Given the description of an element on the screen output the (x, y) to click on. 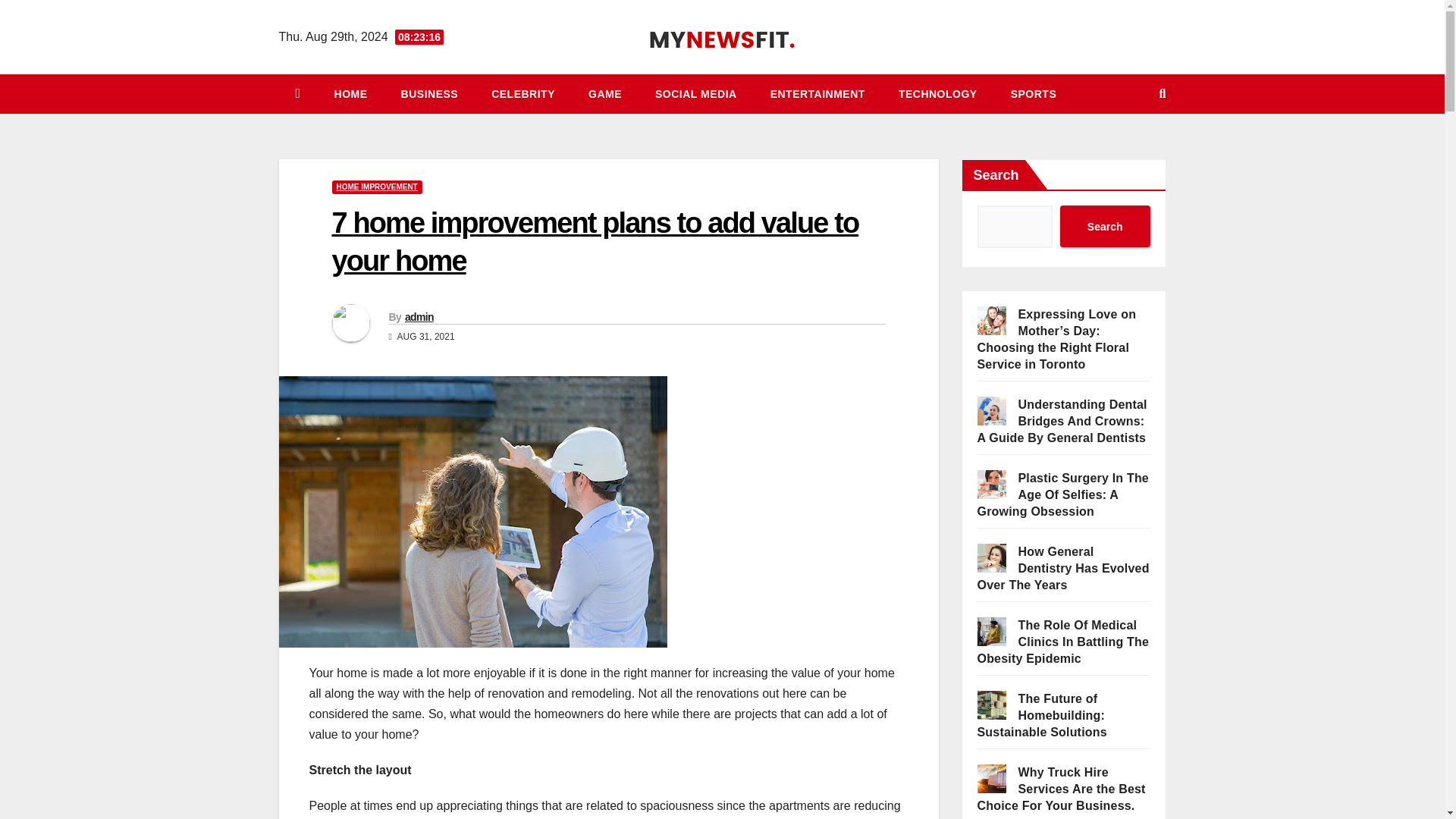
Game (605, 93)
HOME (350, 93)
SOCIAL MEDIA (696, 93)
Home (350, 93)
TECHNOLOGY (938, 93)
SPORTS (1034, 93)
Sports (1034, 93)
Celebrity (523, 93)
7 home improvement plans to add value to your home (595, 241)
